Given the description of an element on the screen output the (x, y) to click on. 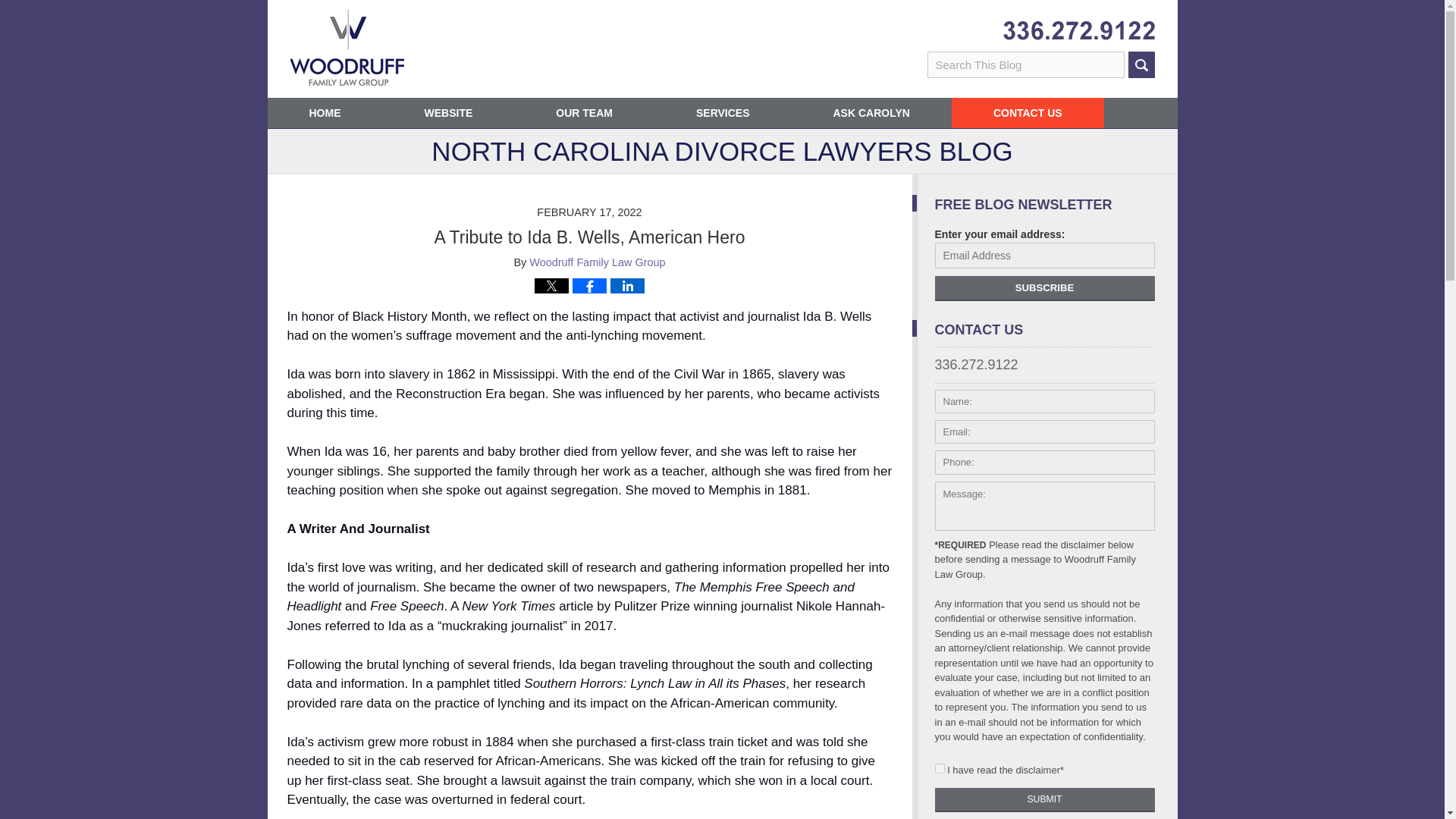
Please enter a valid phone number. (1044, 462)
Woodruff Family Law Group (597, 262)
ASK CAROLYN (872, 112)
SERVICES (722, 112)
HOME (323, 112)
WEBSITE (447, 112)
SEARCH (1141, 64)
North Carolina Divorce Lawyers Blog (346, 47)
NORTH CAROLINA DIVORCE LAWYERS BLOG (720, 156)
CONTACT US (1027, 112)
SUBMIT (1044, 799)
Published By Woodruff Family Law Group (1078, 30)
SUBSCRIBE (1044, 288)
I have read the disclaimer (938, 768)
OUR TEAM (583, 112)
